Given the description of an element on the screen output the (x, y) to click on. 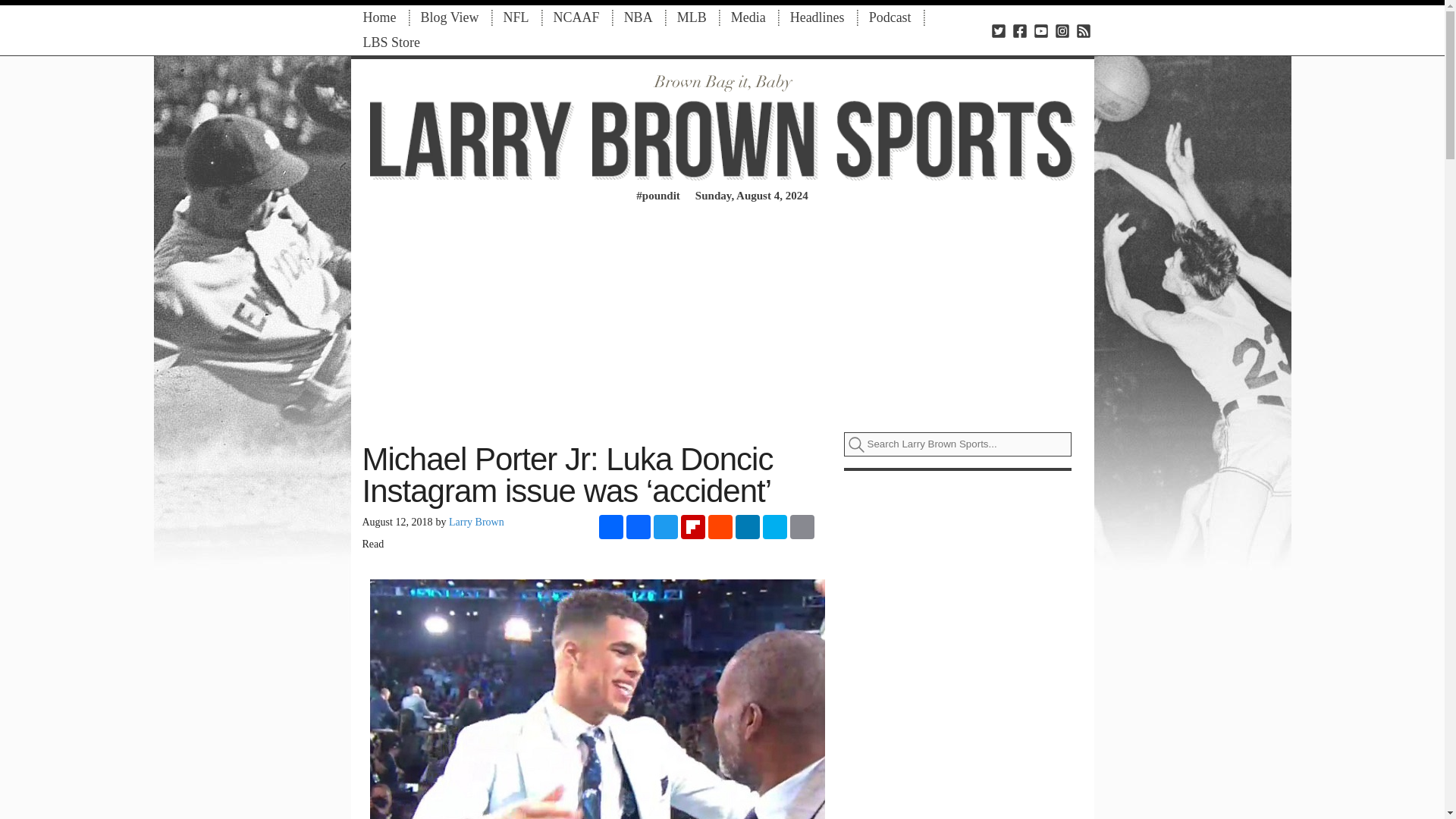
Headlines (817, 17)
Media (748, 17)
View Larry Brown Sports Instagram (1061, 29)
Facebook (638, 526)
NBA (638, 17)
Share (610, 526)
Home (378, 17)
NCAAF (576, 17)
Twitter (665, 526)
Larry Brown (475, 521)
